Given the description of an element on the screen output the (x, y) to click on. 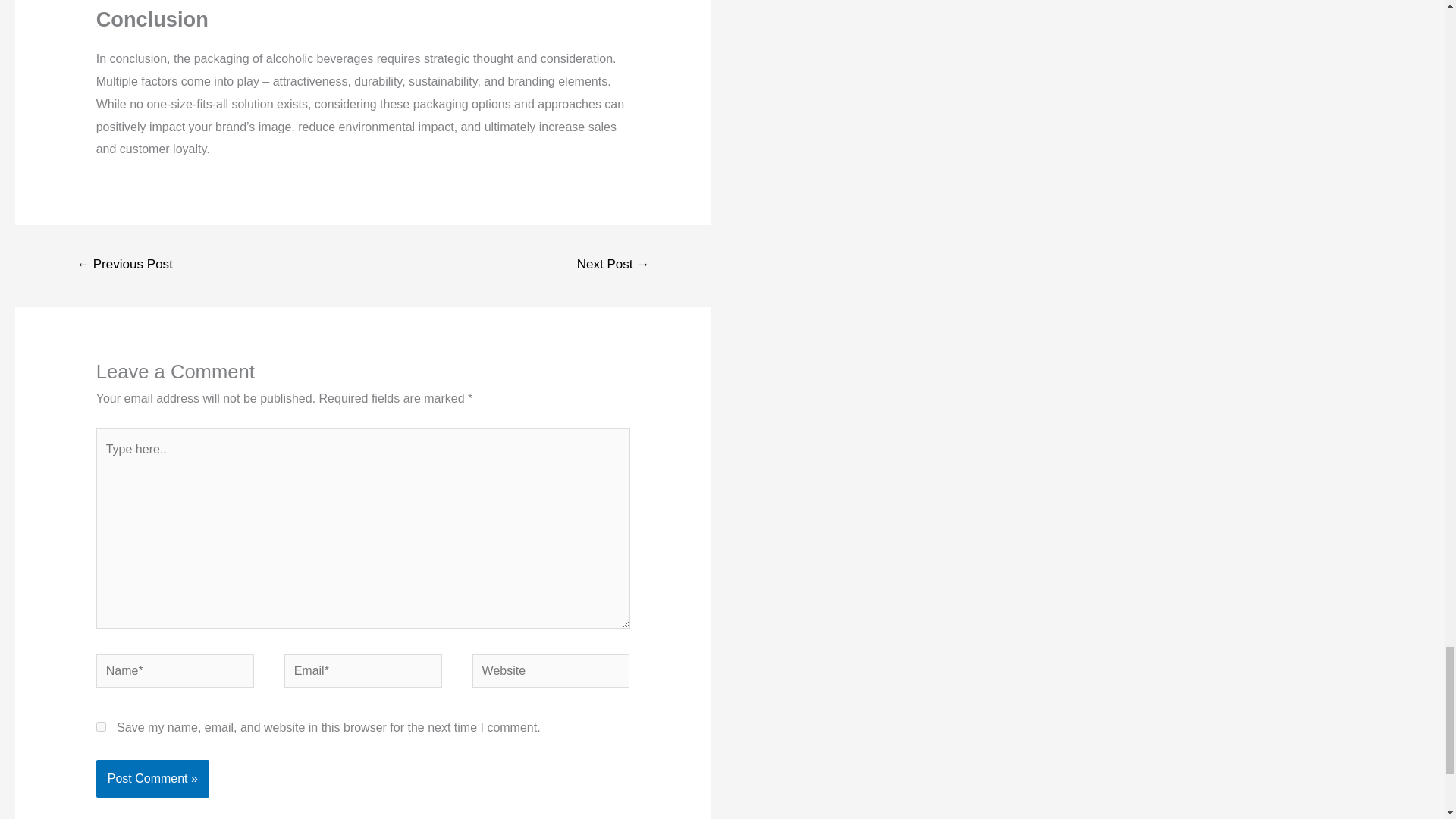
yes (101, 726)
